Given the description of an element on the screen output the (x, y) to click on. 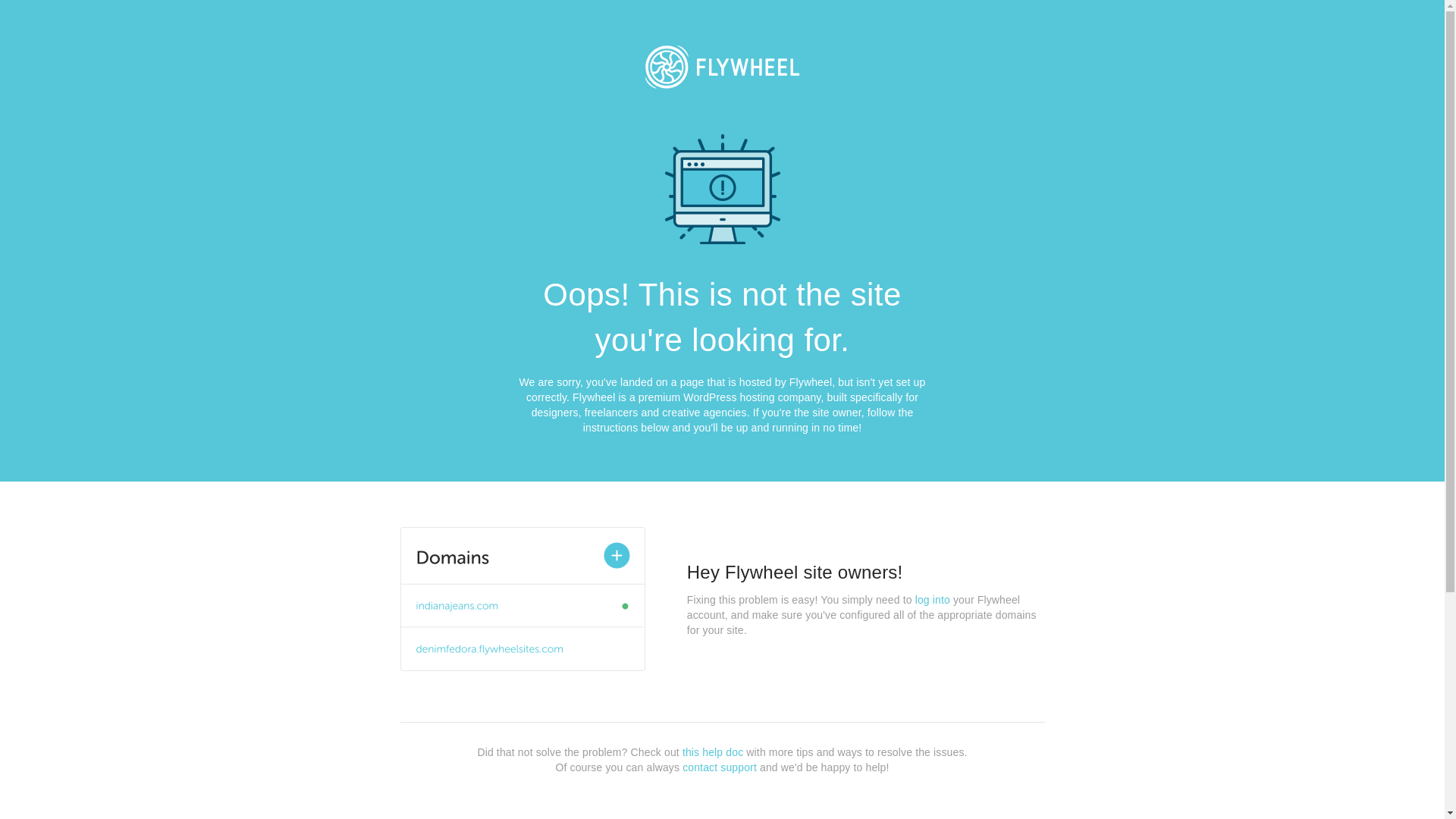
log into Element type: text (932, 599)
this help doc Element type: text (712, 752)
contact support Element type: text (719, 767)
